Given the description of an element on the screen output the (x, y) to click on. 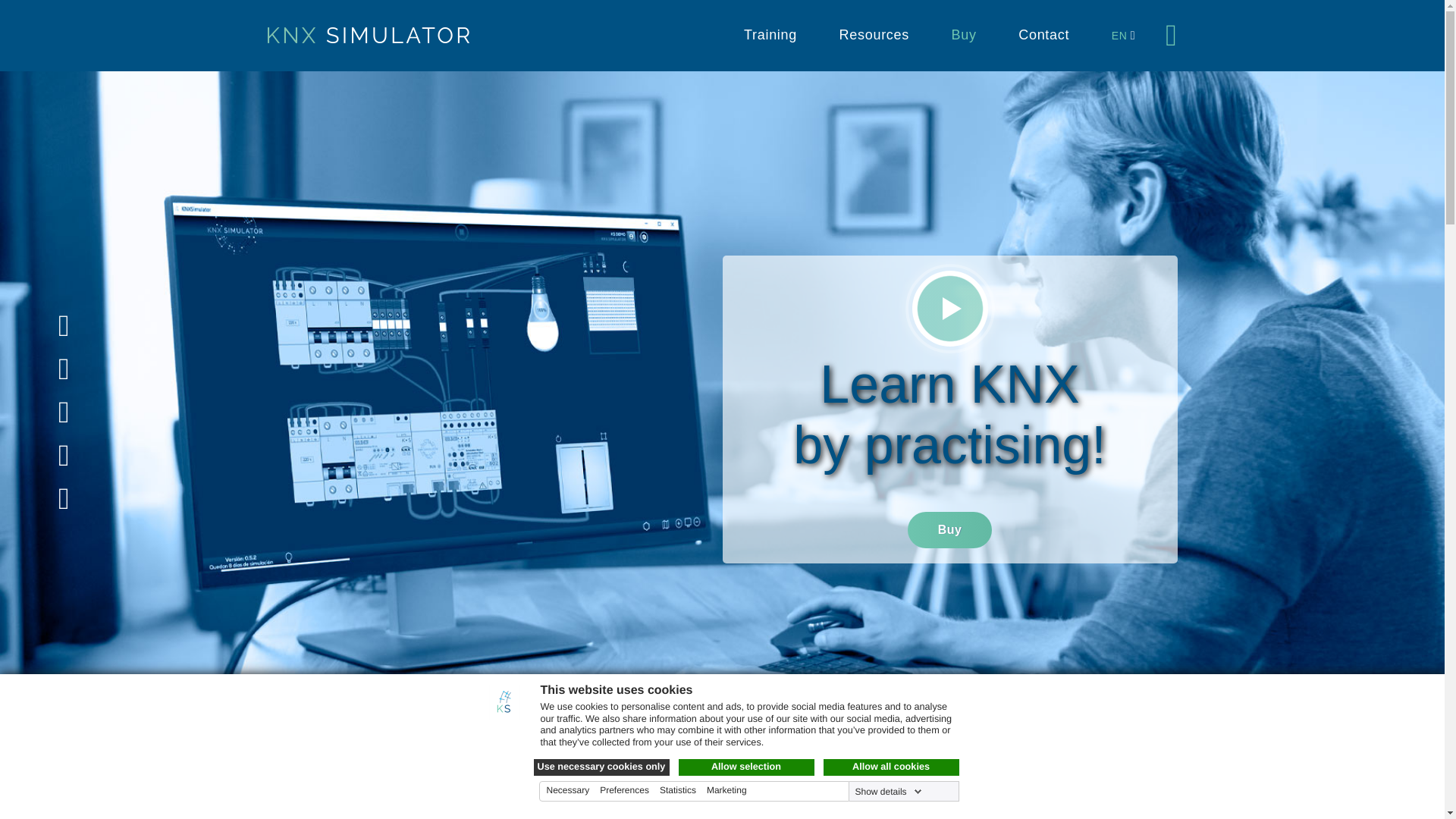
Allow all cookies (891, 767)
EN (1119, 35)
Contact (1042, 35)
Training (770, 35)
Resources (874, 35)
Allow selection (745, 767)
Use necessary cookies only (601, 767)
